Given the description of an element on the screen output the (x, y) to click on. 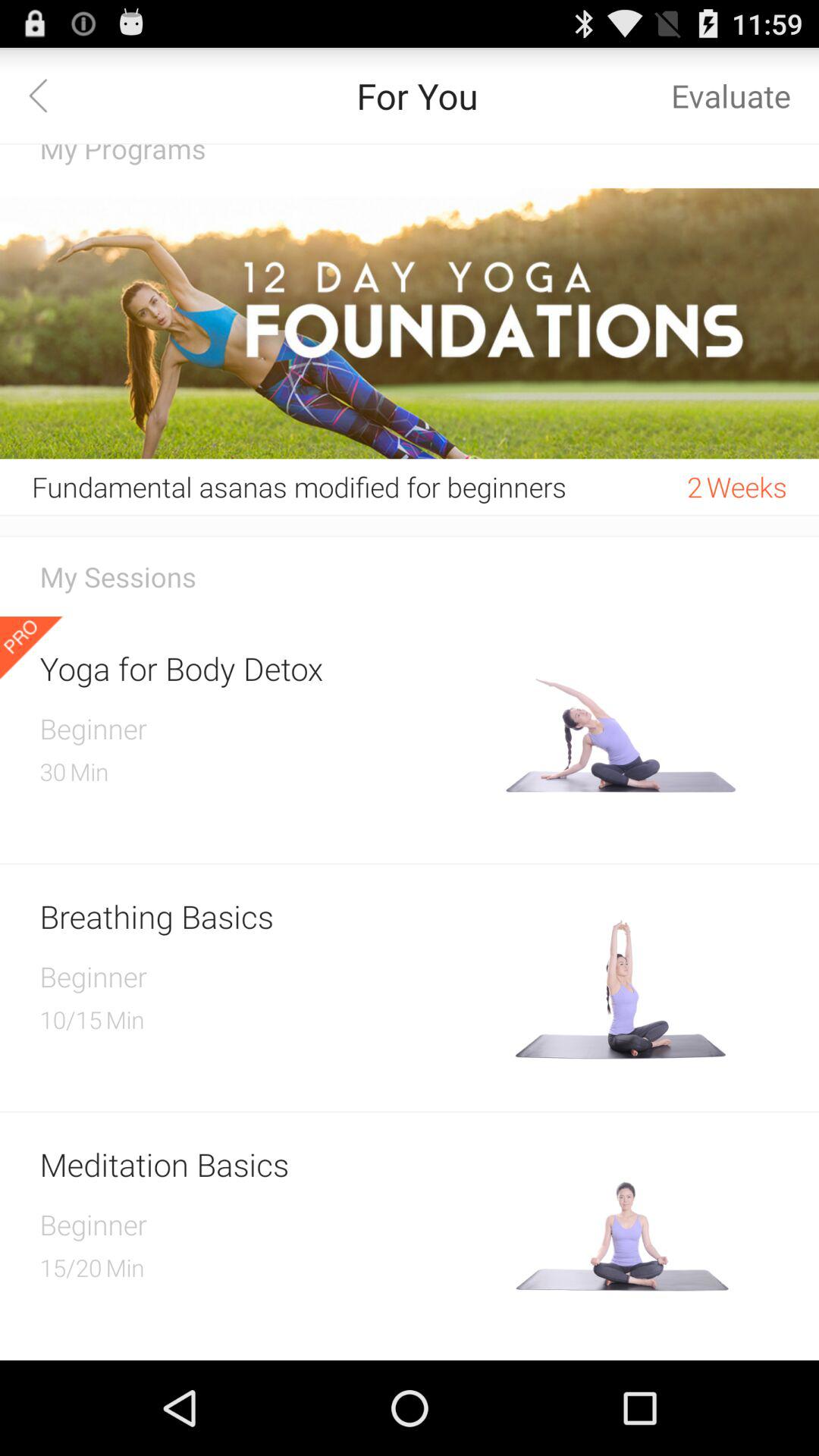
open the 30 item (52, 771)
